Given the description of an element on the screen output the (x, y) to click on. 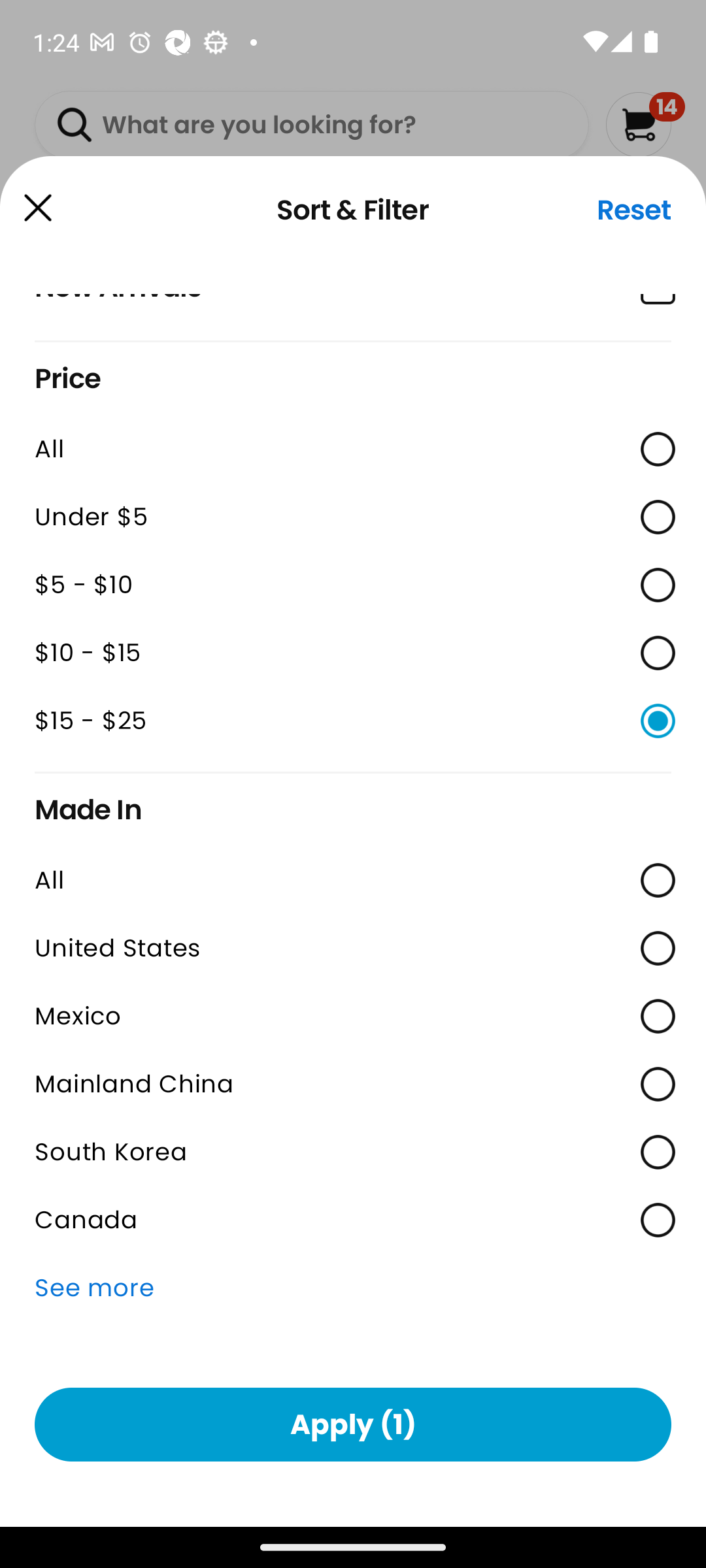
Reset (633, 209)
See more (353, 1287)
Apply (1) (352, 1424)
